Given the description of an element on the screen output the (x, y) to click on. 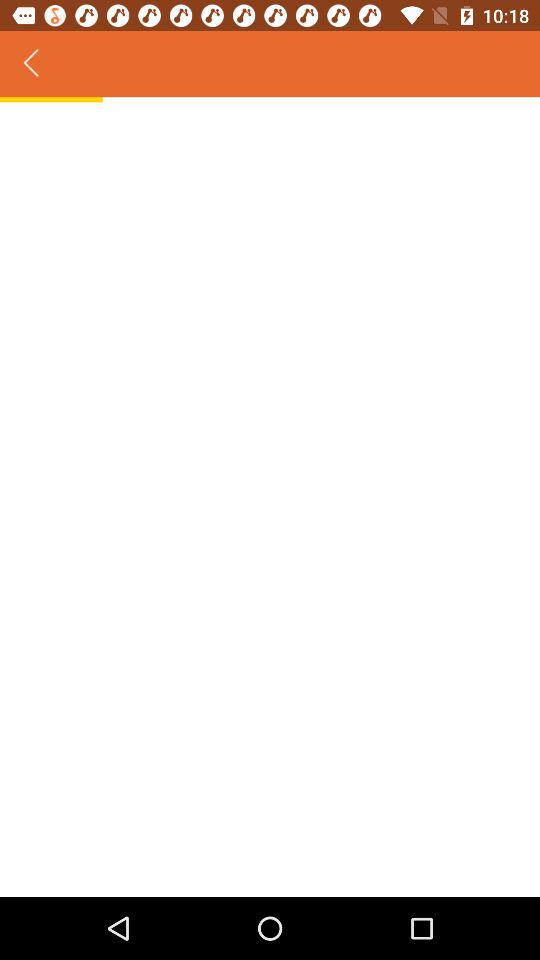
press item at the center (270, 499)
